Given the description of an element on the screen output the (x, y) to click on. 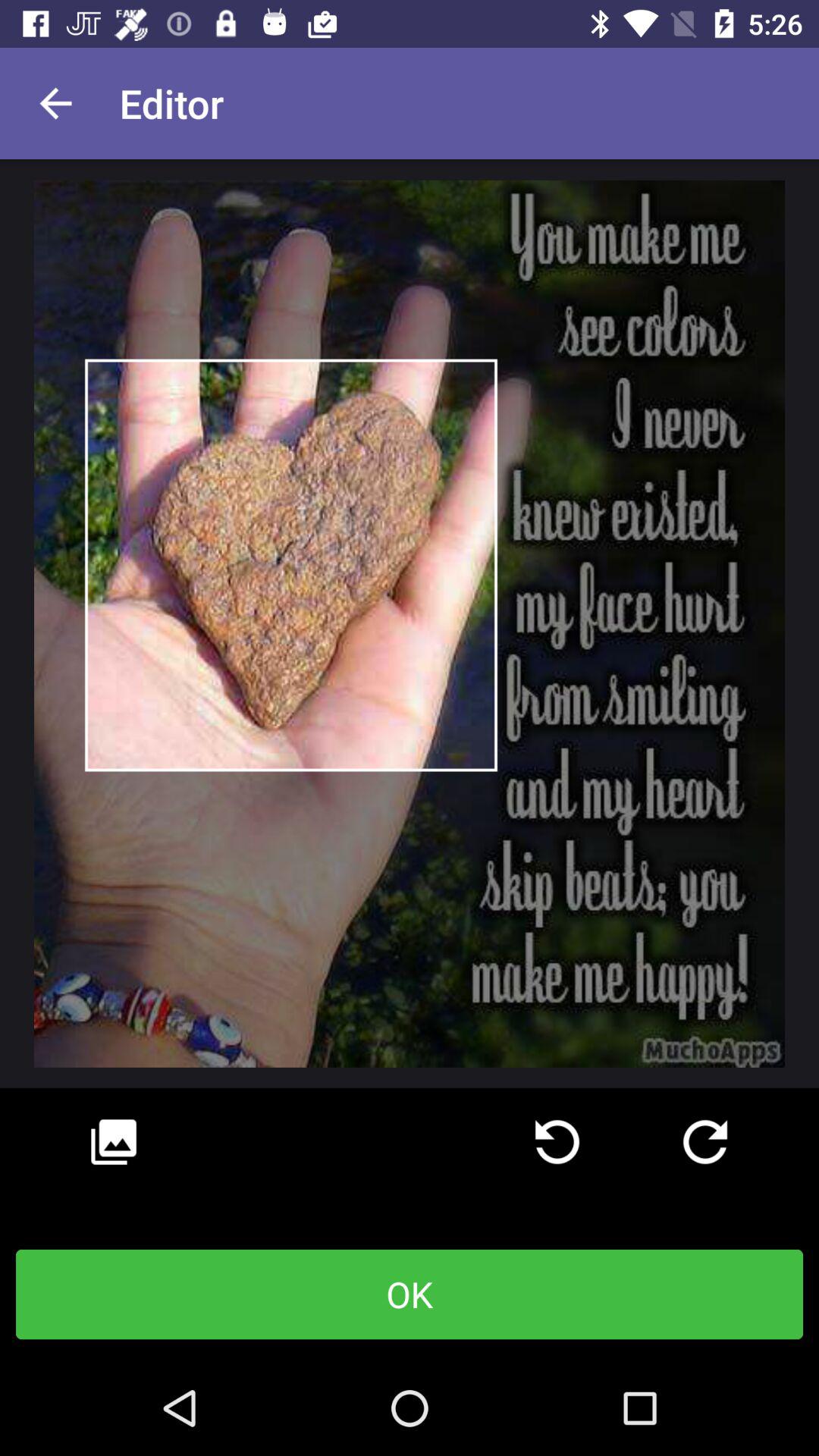
select icon above the ok item (705, 1142)
